Given the description of an element on the screen output the (x, y) to click on. 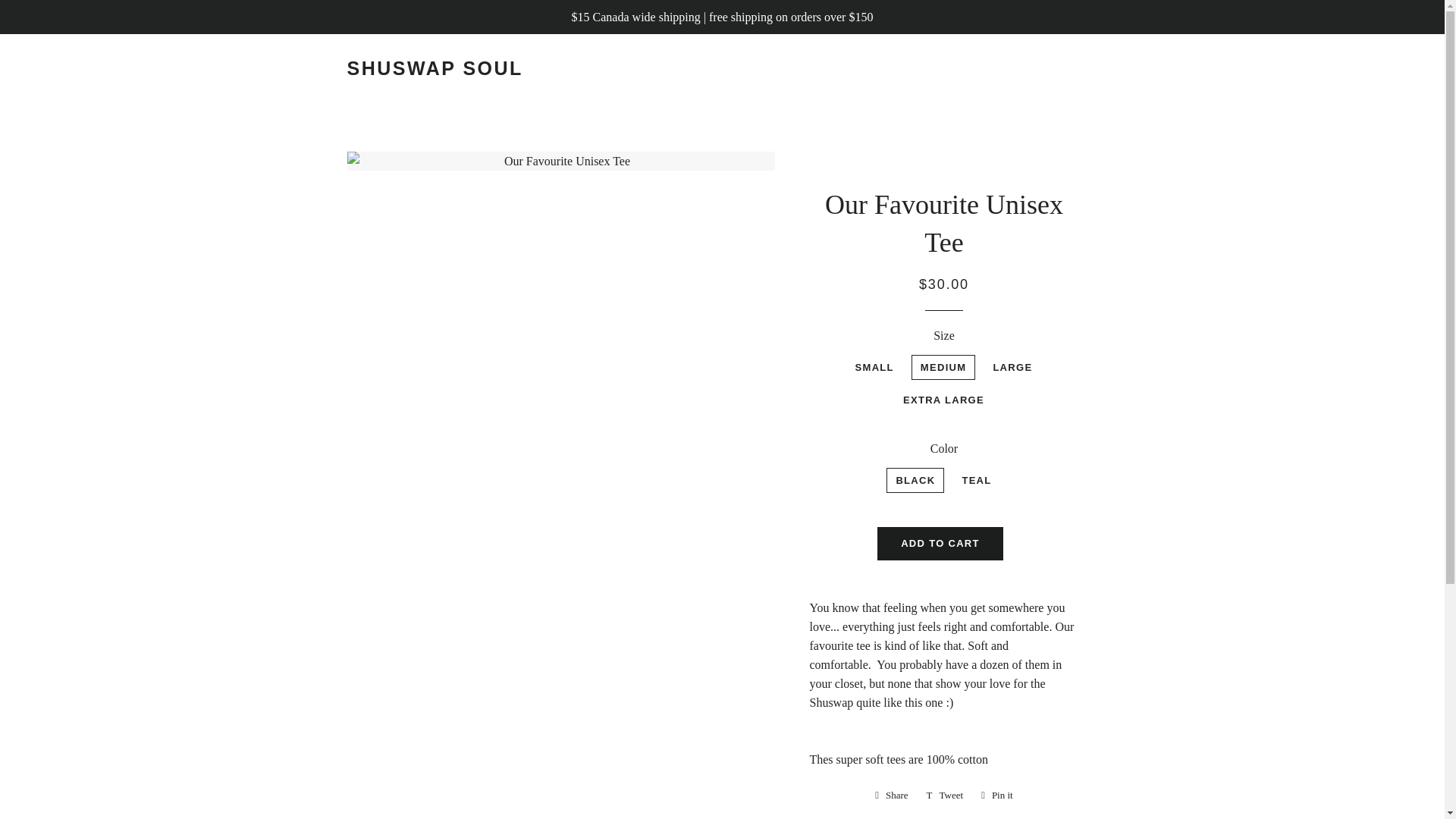
ADD TO CART (940, 543)
Black (997, 794)
Extra Large (891, 794)
Pin on Pinterest (944, 794)
Teal (891, 794)
SHUSWAP SOUL (944, 794)
Small (997, 794)
